Given the description of an element on the screen output the (x, y) to click on. 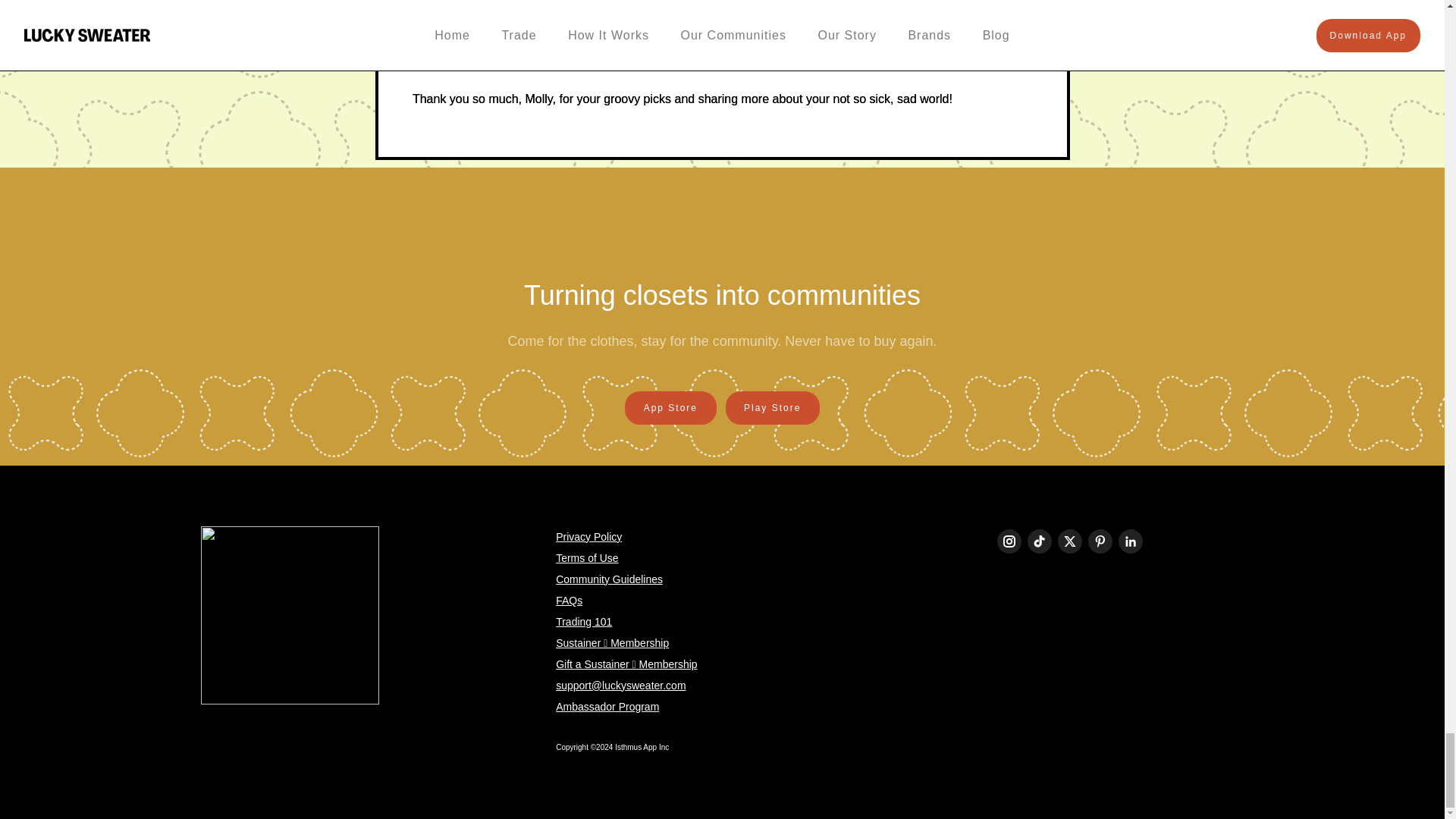
Pinterest (1099, 541)
Instagram (1009, 541)
TikTok (1039, 541)
LinkedIn (1130, 541)
Twitter (1069, 541)
